Given the description of an element on the screen output the (x, y) to click on. 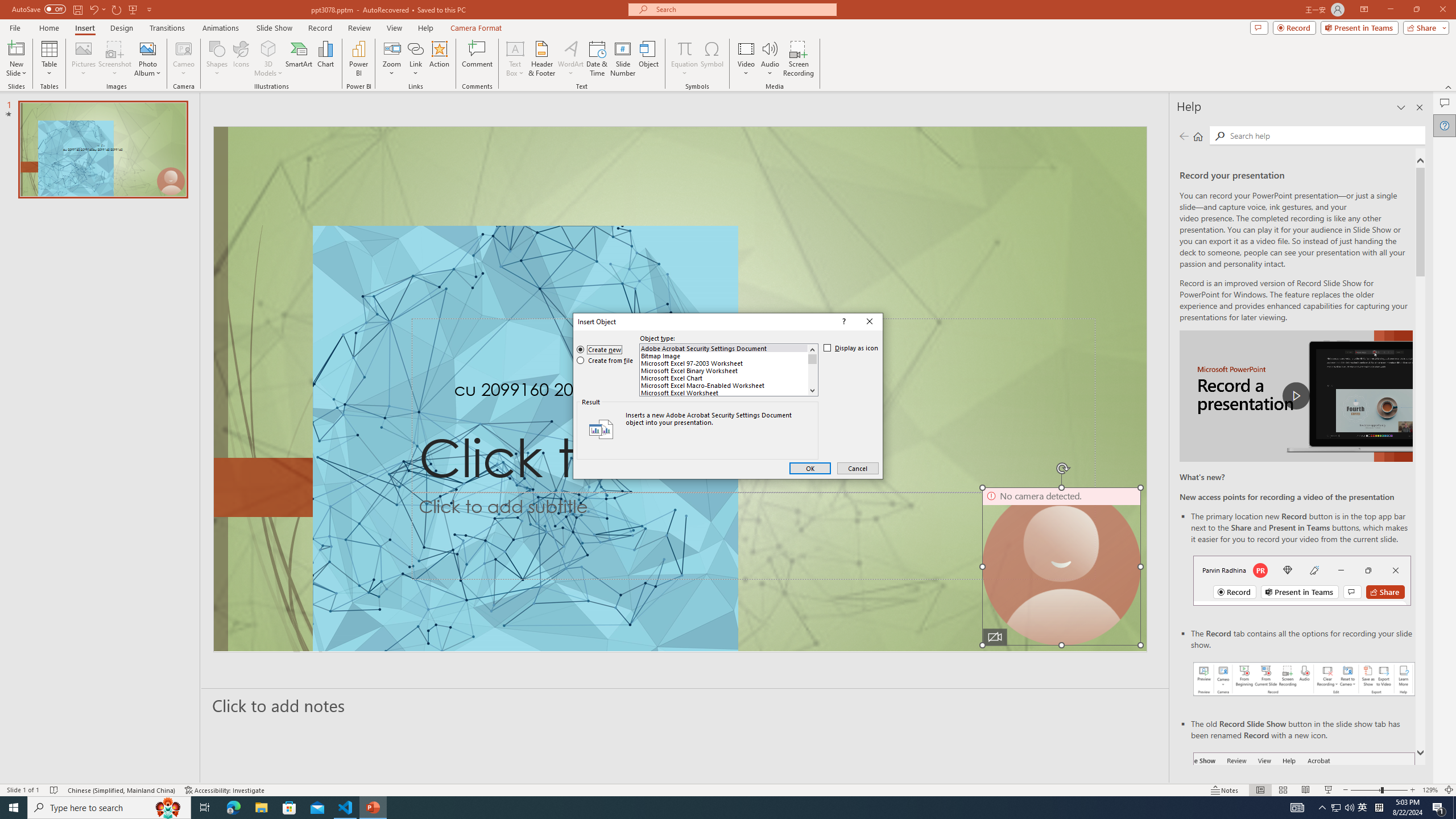
Class: NetUIScrollBar (812, 369)
Previous page (1183, 136)
Microsoft Excel Binary Worksheet (724, 370)
Adobe Acrobat Security Settings Document (724, 348)
Date & Time... (596, 58)
